Given the description of an element on the screen output the (x, y) to click on. 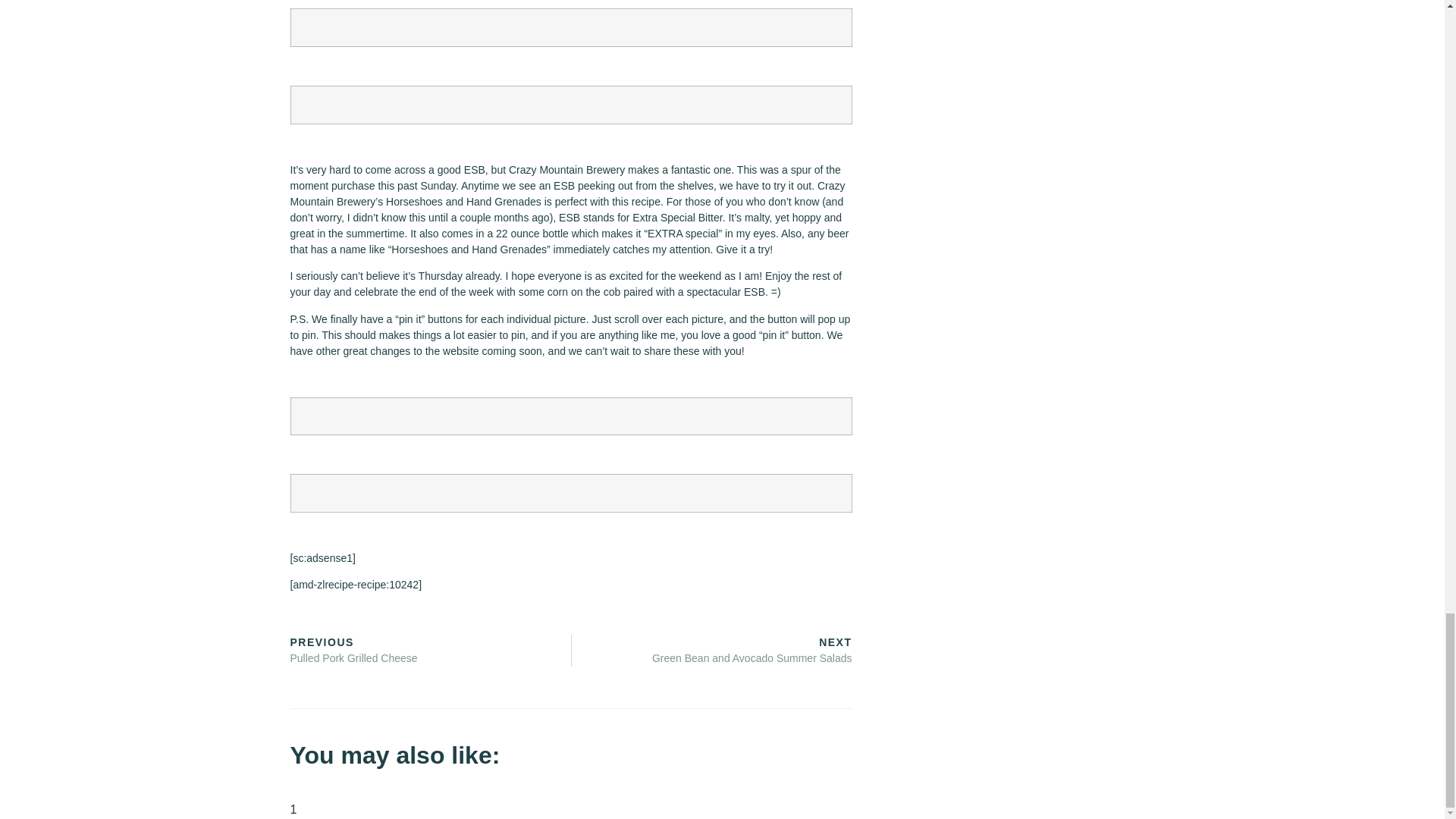
Crazy Mountain Brewery (566, 169)
